Given the description of an element on the screen output the (x, y) to click on. 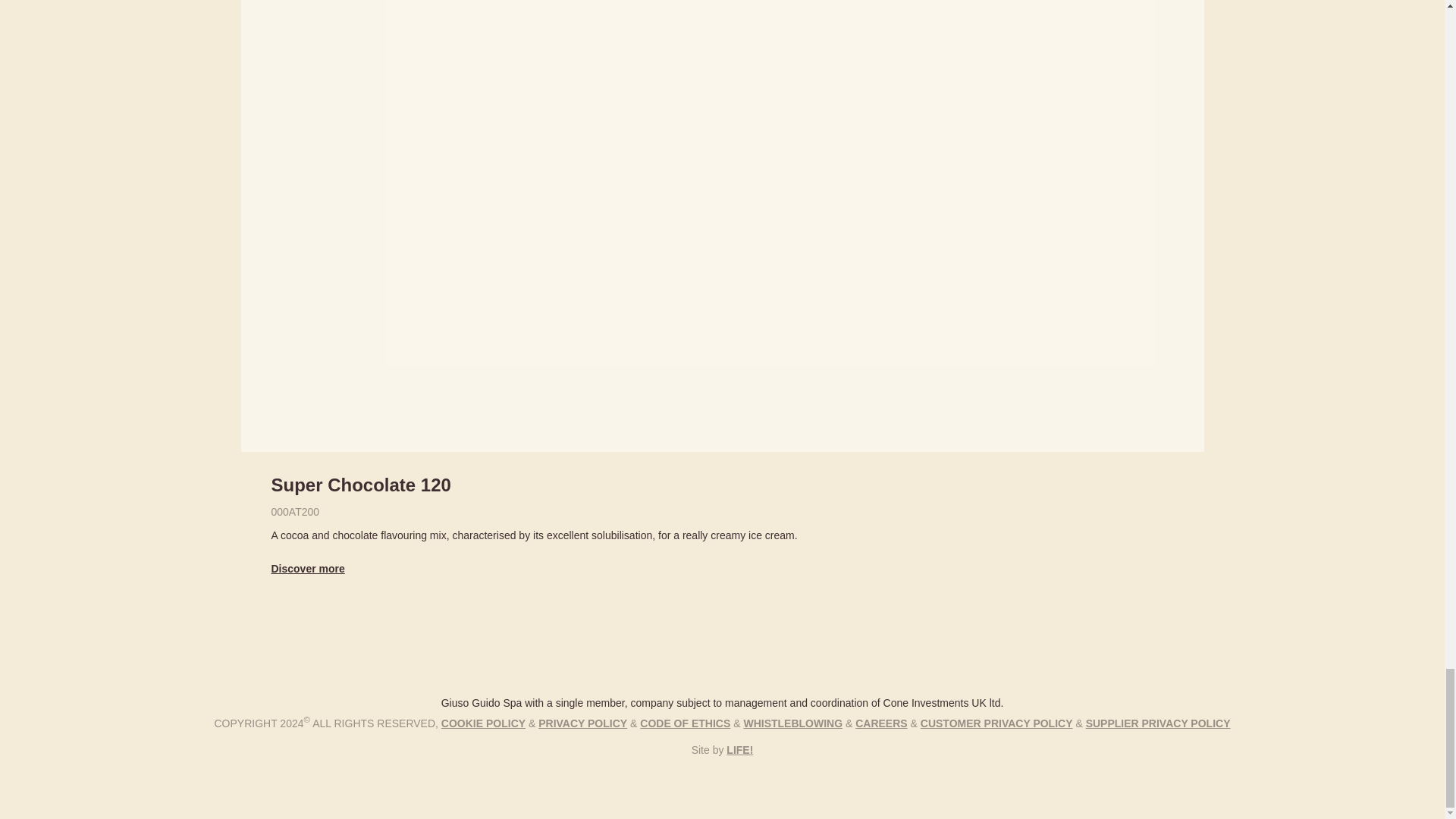
PRIVACY POLICY (582, 723)
CUSTOMER PRIVACY POLICY (996, 723)
Discover more (307, 568)
COOKIE POLICY (483, 723)
CODE OF ETHICS (685, 723)
SUPPLIER PRIVACY POLICY (1158, 723)
LIFE! (739, 749)
CAREERS (881, 723)
WHISTLEBLOWING (792, 723)
